Given the description of an element on the screen output the (x, y) to click on. 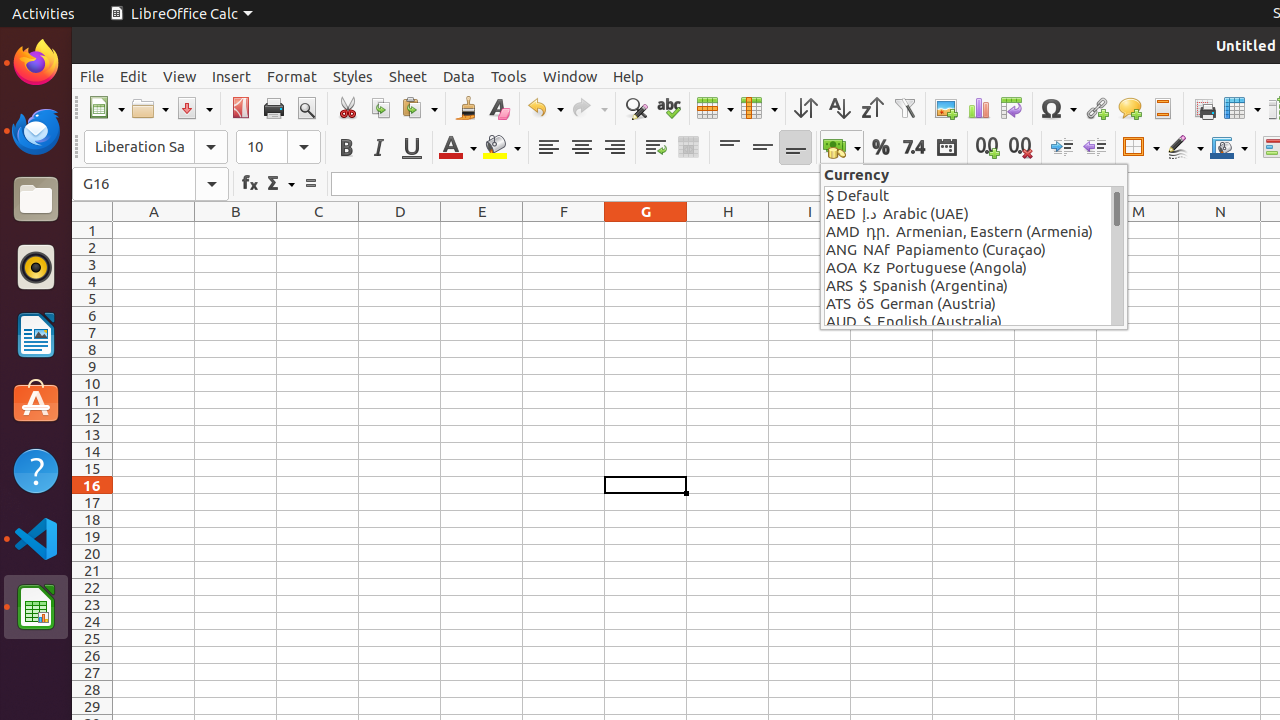
Sheet Element type: menu (408, 76)
Cut Element type: push-button (347, 108)
Symbol Element type: push-button (1058, 108)
Hyperlink Element type: toggle-button (1096, 108)
Select Function Element type: push-button (280, 183)
